Given the description of an element on the screen output the (x, y) to click on. 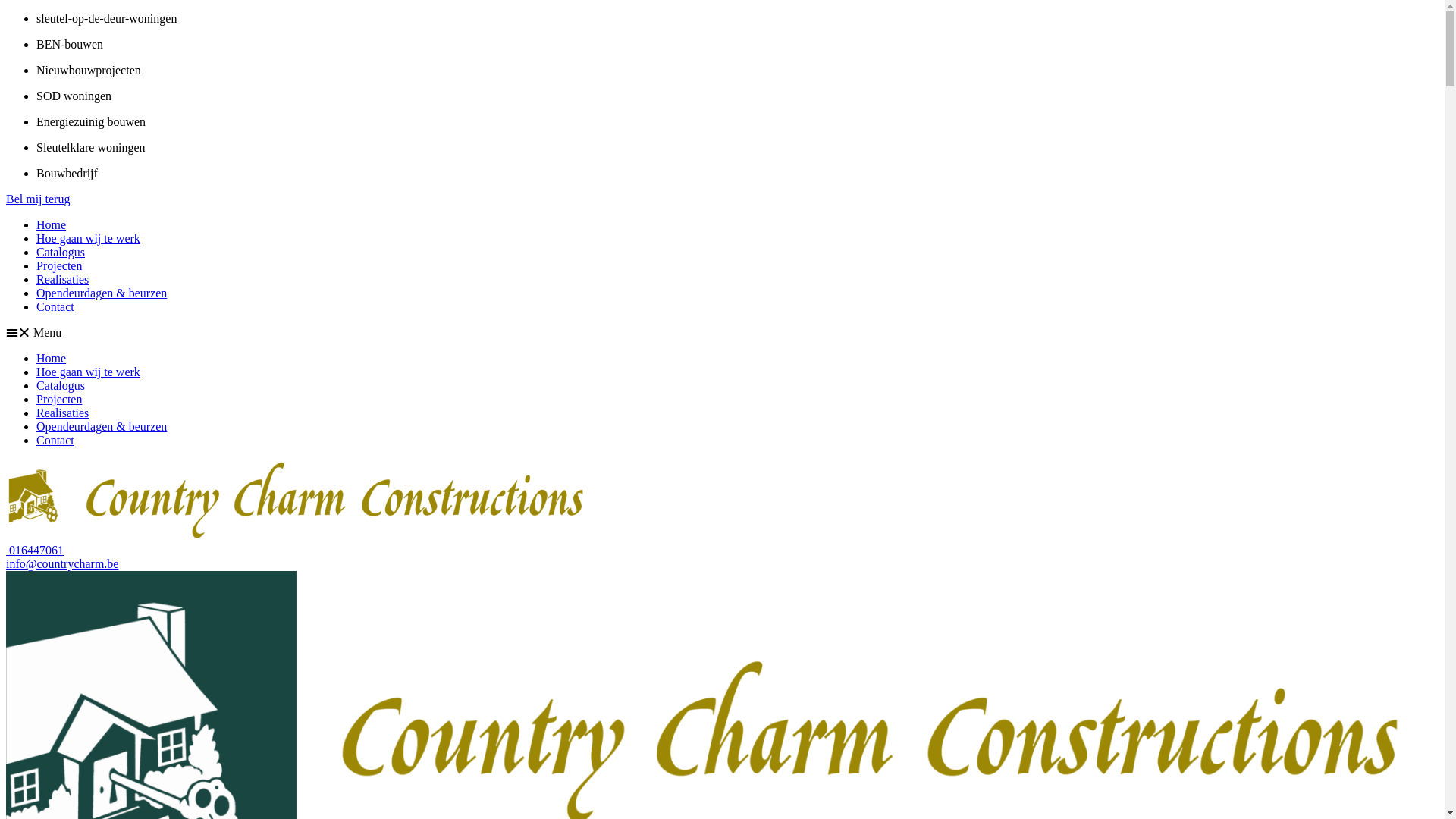
Bel mij terug Element type: text (37, 198)
Hoe gaan wij te werk Element type: text (88, 371)
Realisaties Element type: text (62, 279)
Contact Element type: text (55, 306)
Contact Element type: text (55, 439)
Catalogus Element type: text (60, 385)
Home Element type: text (50, 357)
Opendeurdagen & beurzen Element type: text (101, 292)
Projecten Element type: text (58, 398)
Opendeurdagen & beurzen Element type: text (101, 426)
Projecten Element type: text (58, 265)
Hoe gaan wij te werk Element type: text (88, 238)
 016447061 Element type: text (34, 549)
Catalogus Element type: text (60, 251)
info@countrycharm.be Element type: text (62, 563)
Realisaties Element type: text (62, 412)
Home Element type: text (50, 224)
